Given the description of an element on the screen output the (x, y) to click on. 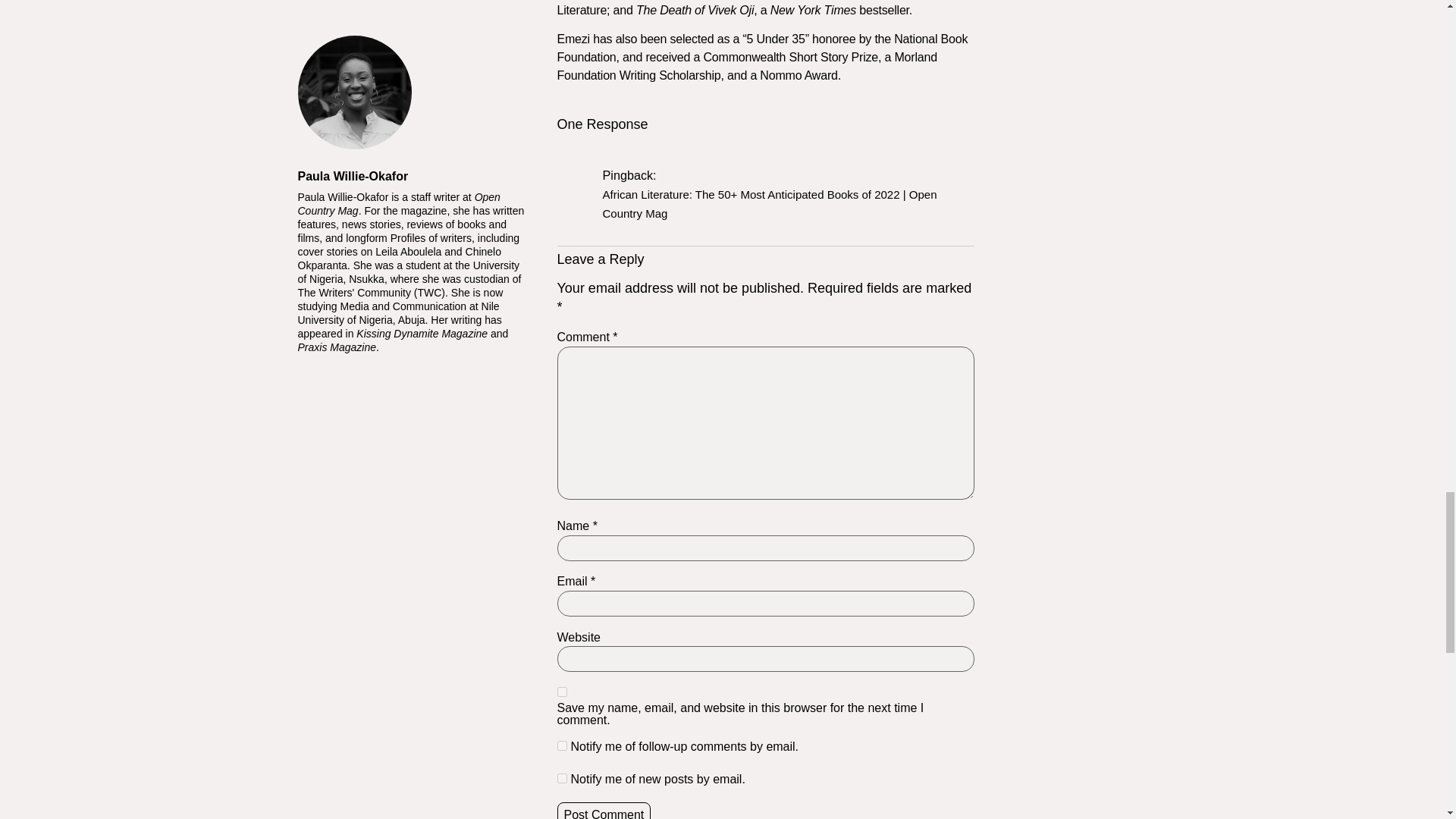
subscribe (561, 746)
yes (561, 691)
Post Comment (603, 810)
subscribe (561, 777)
